Given the description of an element on the screen output the (x, y) to click on. 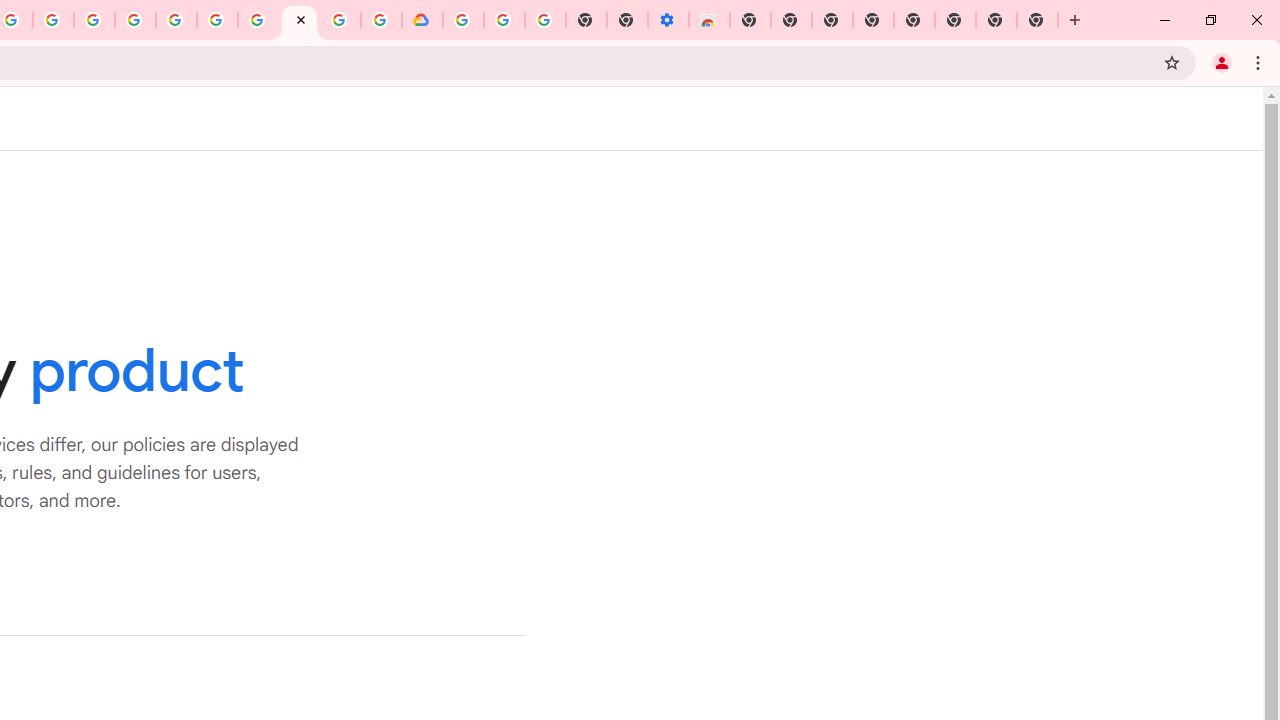
Sign in - Google Accounts (462, 20)
Ad Settings (135, 20)
Settings - Accessibility (667, 20)
Turn cookies on or off - Computer - Google Account Help (544, 20)
Create your Google Account (53, 20)
New Tab (749, 20)
Browse the Google Chrome Community - Google Chrome Community (381, 20)
